Given the description of an element on the screen output the (x, y) to click on. 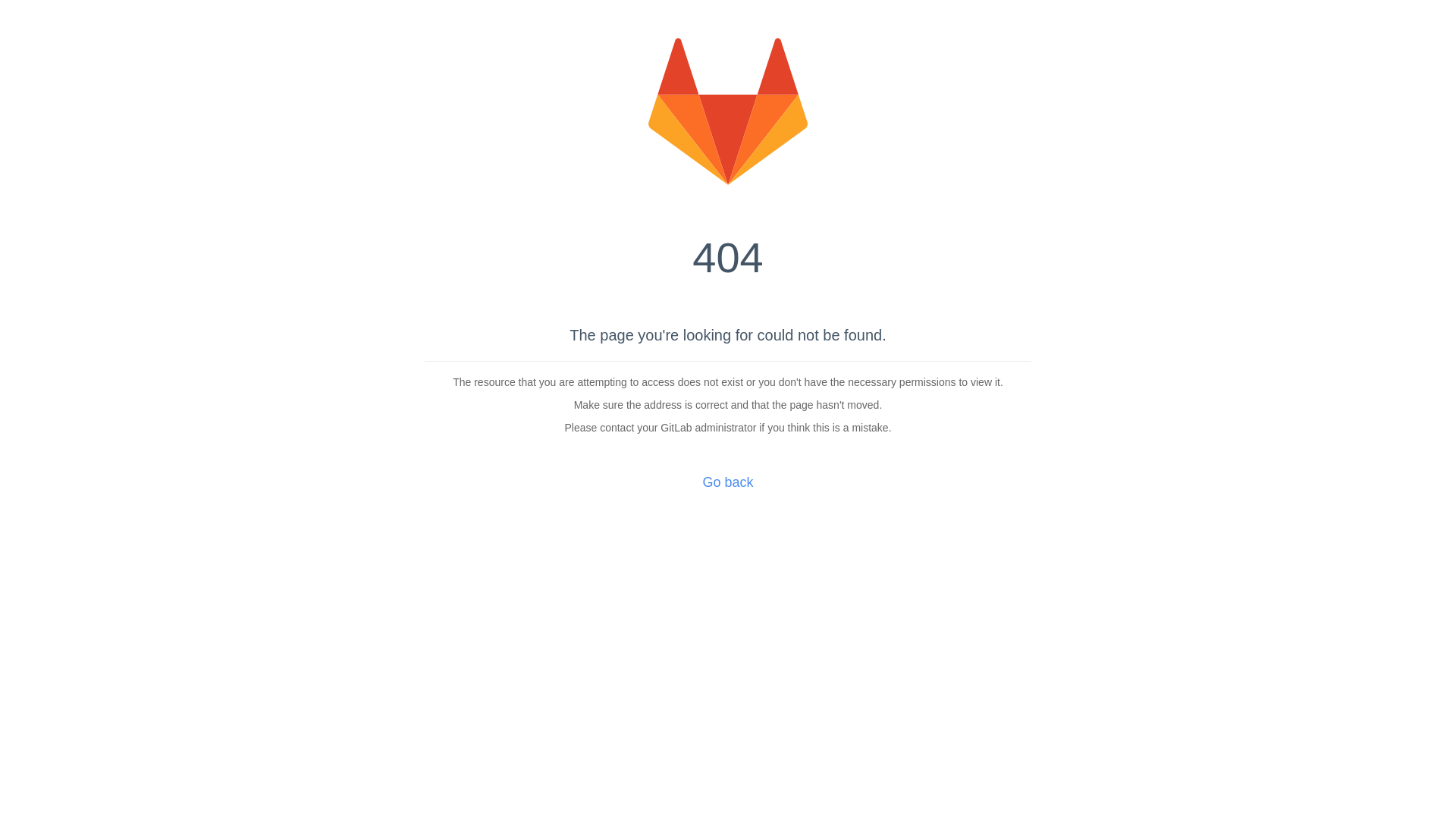
Go back Element type: text (727, 481)
